Given the description of an element on the screen output the (x, y) to click on. 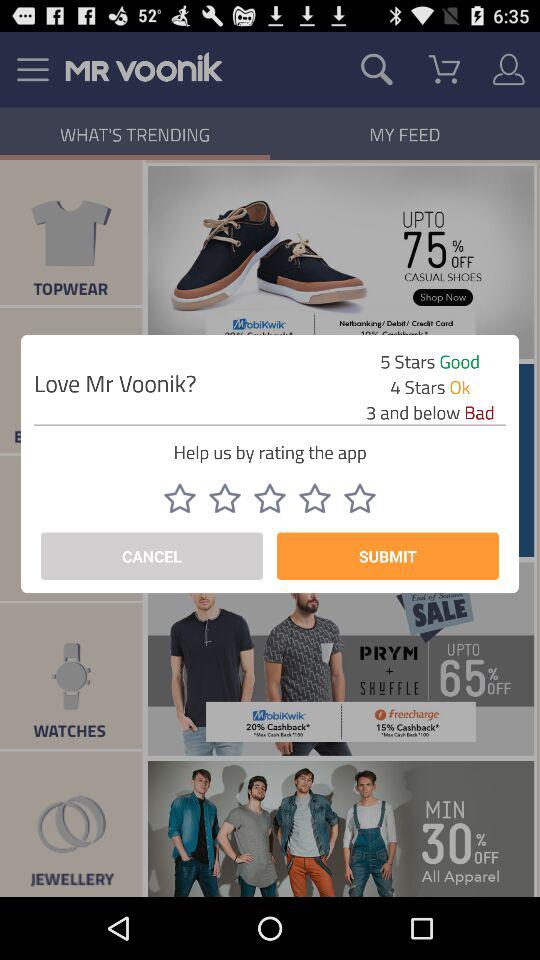
scroll until the cancel item (151, 556)
